Given the description of an element on the screen output the (x, y) to click on. 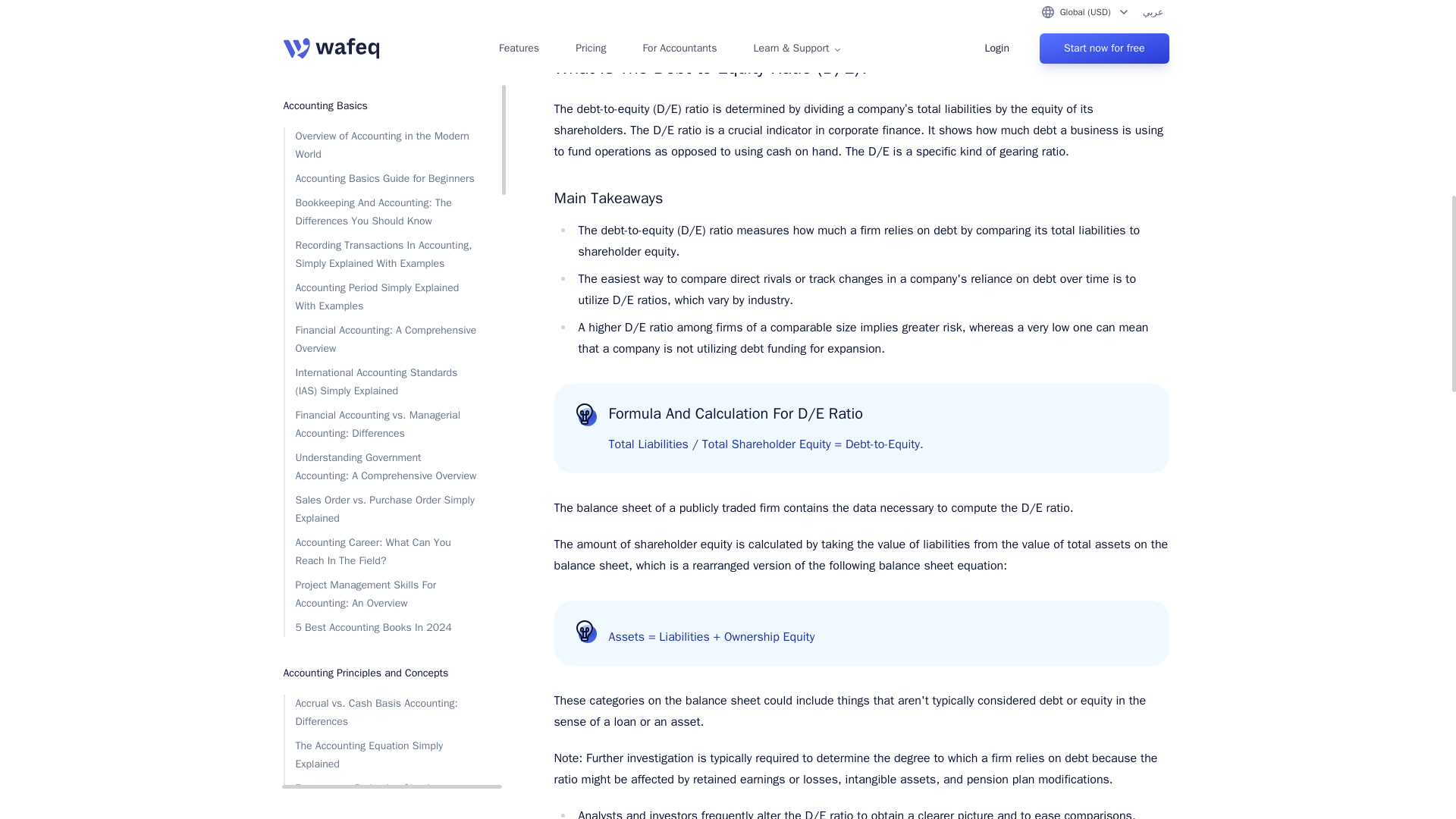
Bank Reconciliation: An Overview (381, 54)
How-To: End Of Year Accounting (381, 78)
9 Fundamental Accounting Principles for Small Businesses (381, 154)
The Difference Between Profit And Loss And Balance Sheet (381, 324)
When To Choose Accrual Accounting Over Cash Accounting (381, 197)
8 Crucial Accounting Cycle Steps With Examples (381, 366)
Financial Forecasting In Accounting Explained (381, 21)
An Overview of Zakat and Zakat Declaration (381, 409)
25 Essential Accounting Terms Everyone Should Know (381, 239)
